Given the description of an element on the screen output the (x, y) to click on. 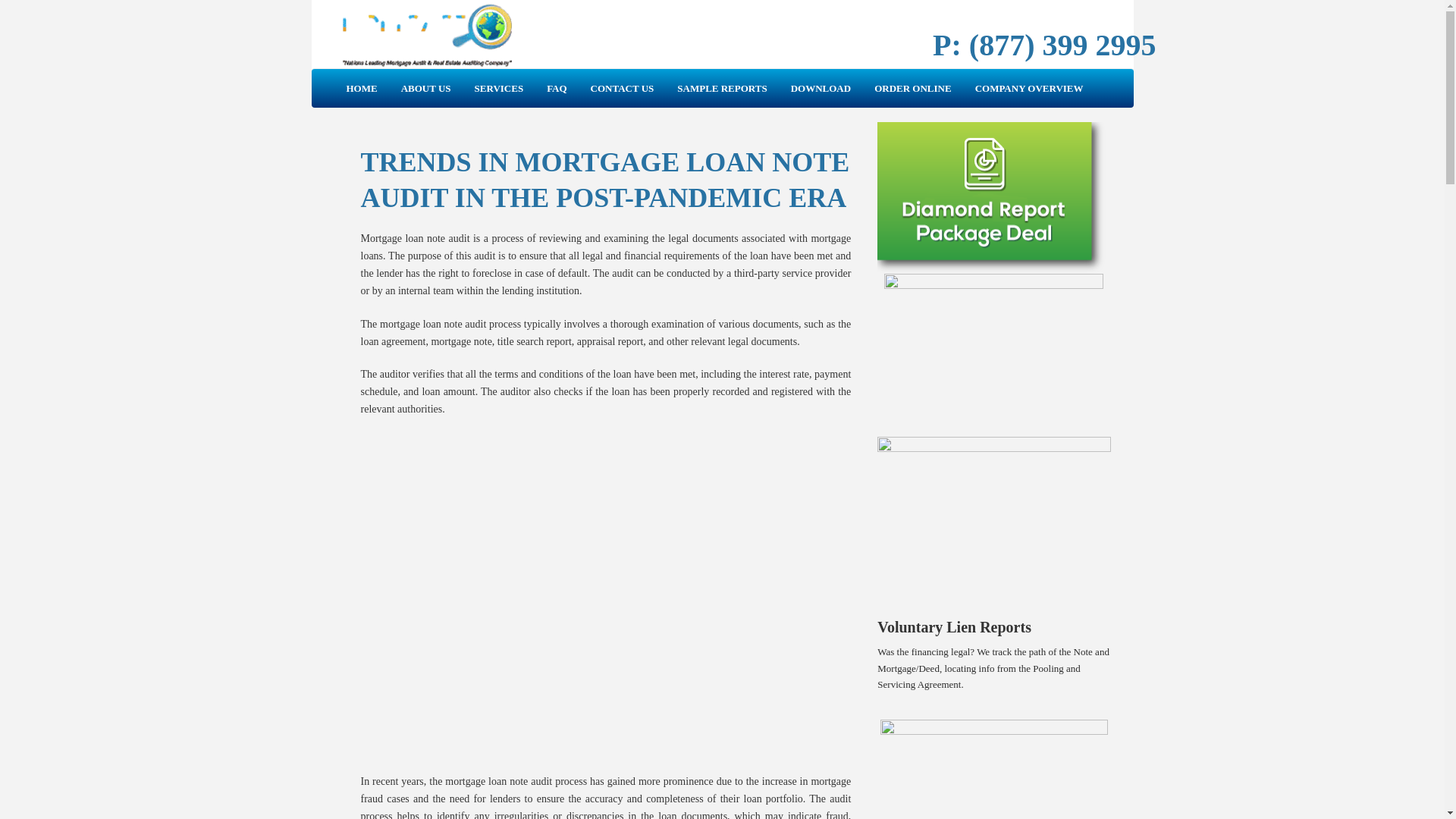
ABOUT US (426, 87)
DOWNLOAD (819, 87)
SAMPLE REPORTS (721, 87)
DOWNLOAD (819, 87)
COMPANY OVERVIEW (1028, 87)
ORDER ONLINE (912, 87)
FAQ (556, 87)
HOME (361, 87)
SERVICES (499, 87)
